Given the description of an element on the screen output the (x, y) to click on. 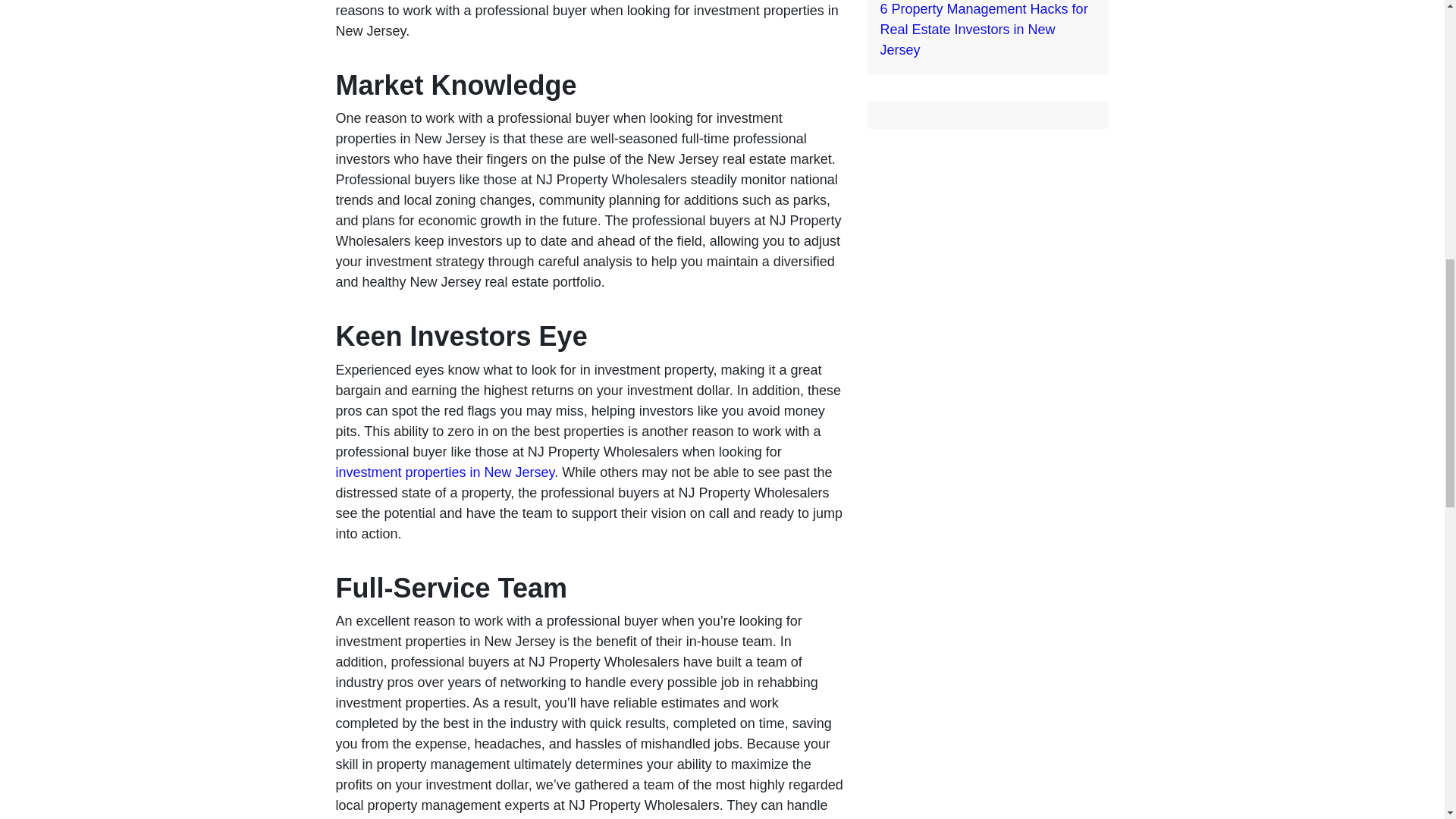
investment properties in New Jersey (444, 472)
